Given the description of an element on the screen output the (x, y) to click on. 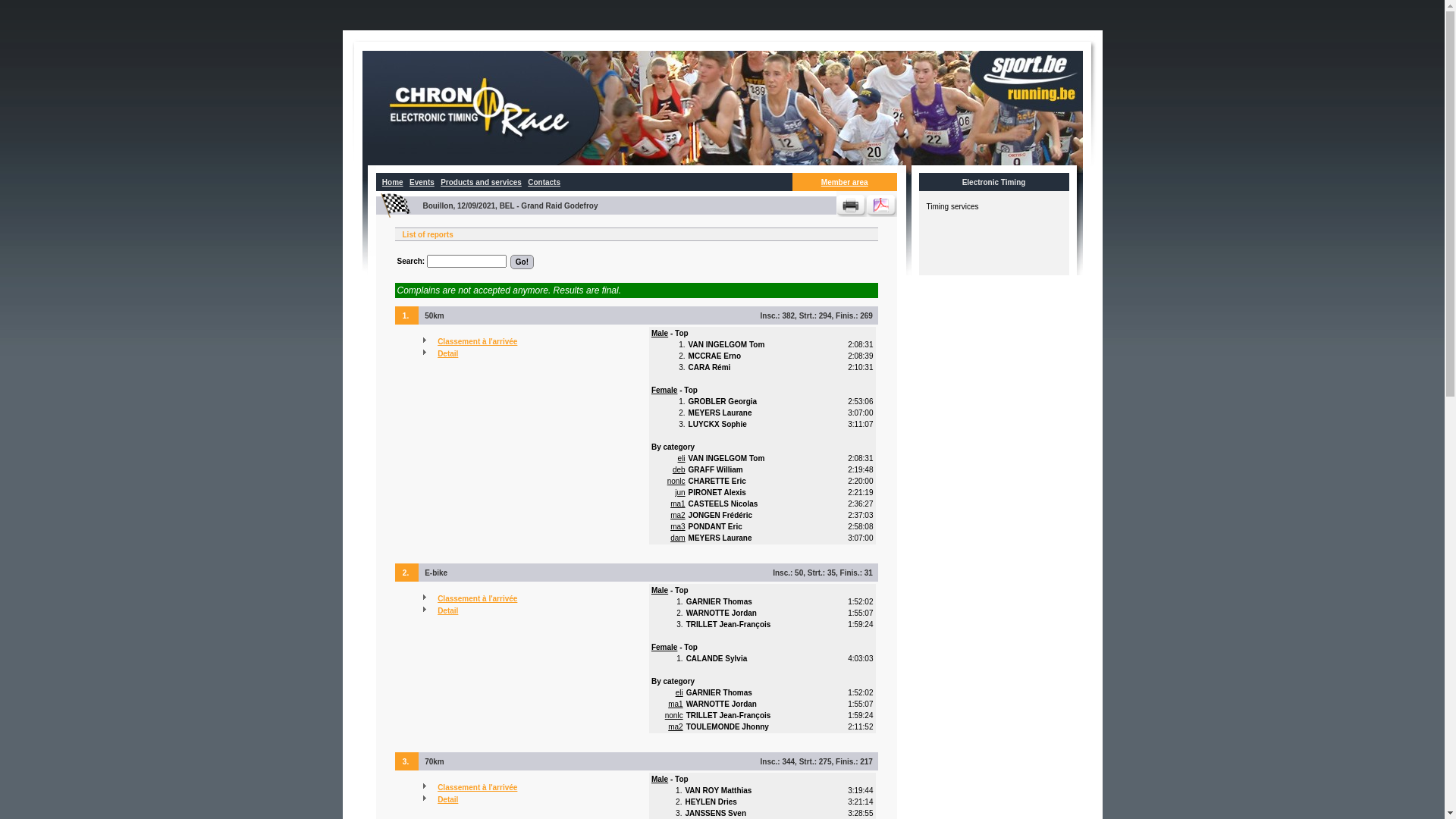
Female Element type: text (664, 389)
Male Element type: text (659, 779)
Male Element type: text (659, 333)
Contacts Element type: text (543, 181)
Detail Element type: text (447, 610)
eli Element type: text (679, 692)
ma2 Element type: text (677, 515)
Member area Element type: text (844, 181)
deb Element type: text (678, 469)
Detail Element type: text (447, 353)
Female Element type: text (664, 647)
Male Element type: text (659, 590)
ma1 Element type: text (675, 703)
nonlc Element type: text (674, 715)
jun Element type: text (679, 492)
dam Element type: text (677, 537)
nonlc Element type: text (676, 480)
ma3 Element type: text (677, 526)
Detail Element type: text (447, 799)
Products and services Element type: text (480, 181)
ma1 Element type: text (677, 503)
Go! Element type: text (521, 261)
Events Element type: text (421, 181)
eli Element type: text (681, 458)
ma2 Element type: text (675, 726)
Home Element type: text (392, 181)
